Given the description of an element on the screen output the (x, y) to click on. 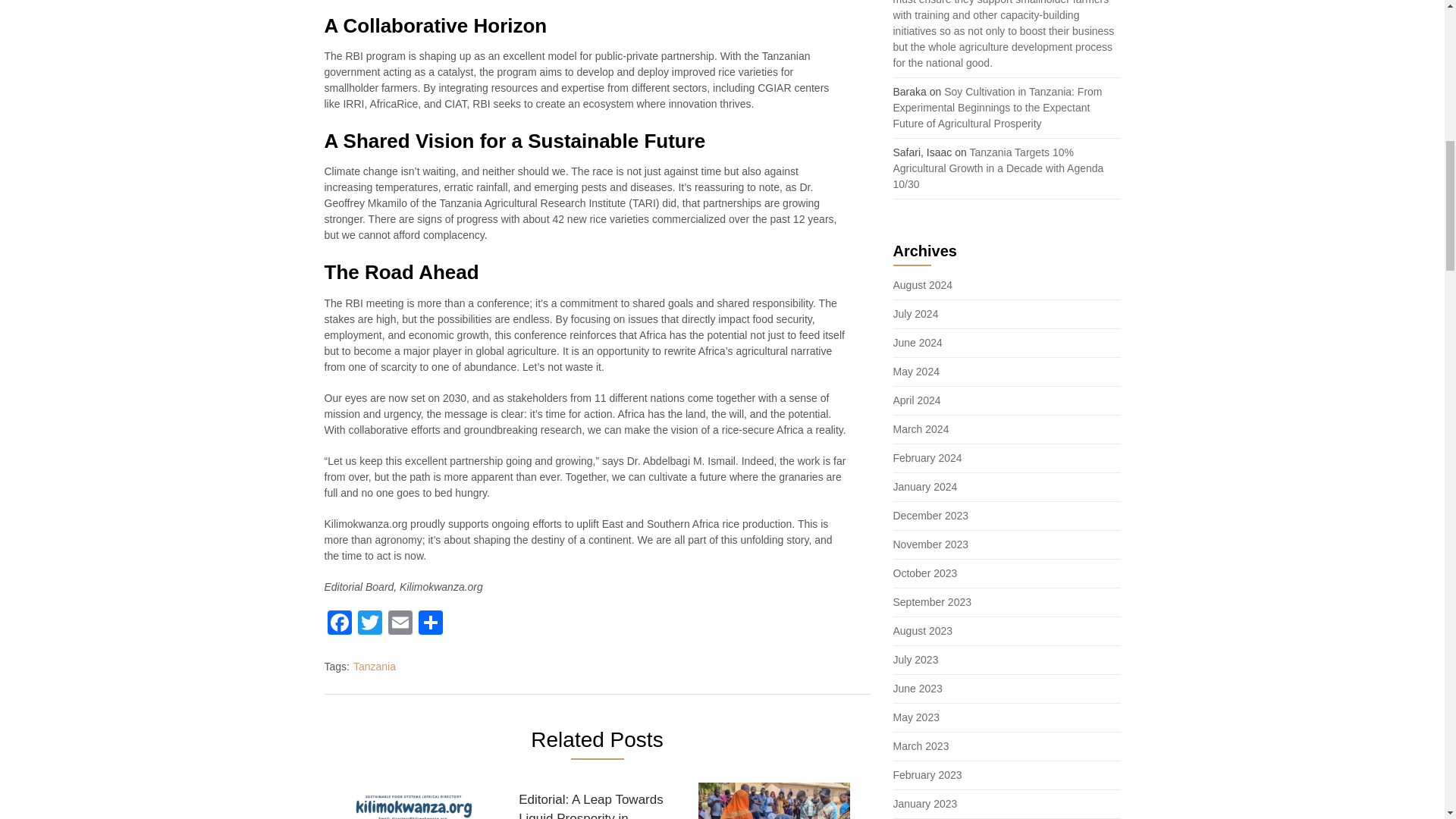
Facebook (339, 624)
Email (399, 624)
Editorial: A Leap Towards Liquid Prosperity in Tanzania (593, 800)
Twitter (370, 624)
Tanzania (374, 666)
Editorial: A Leap Towards Liquid Prosperity in Tanzania (593, 800)
Email (399, 624)
Facebook (339, 624)
Twitter (370, 624)
